Given the description of an element on the screen output the (x, y) to click on. 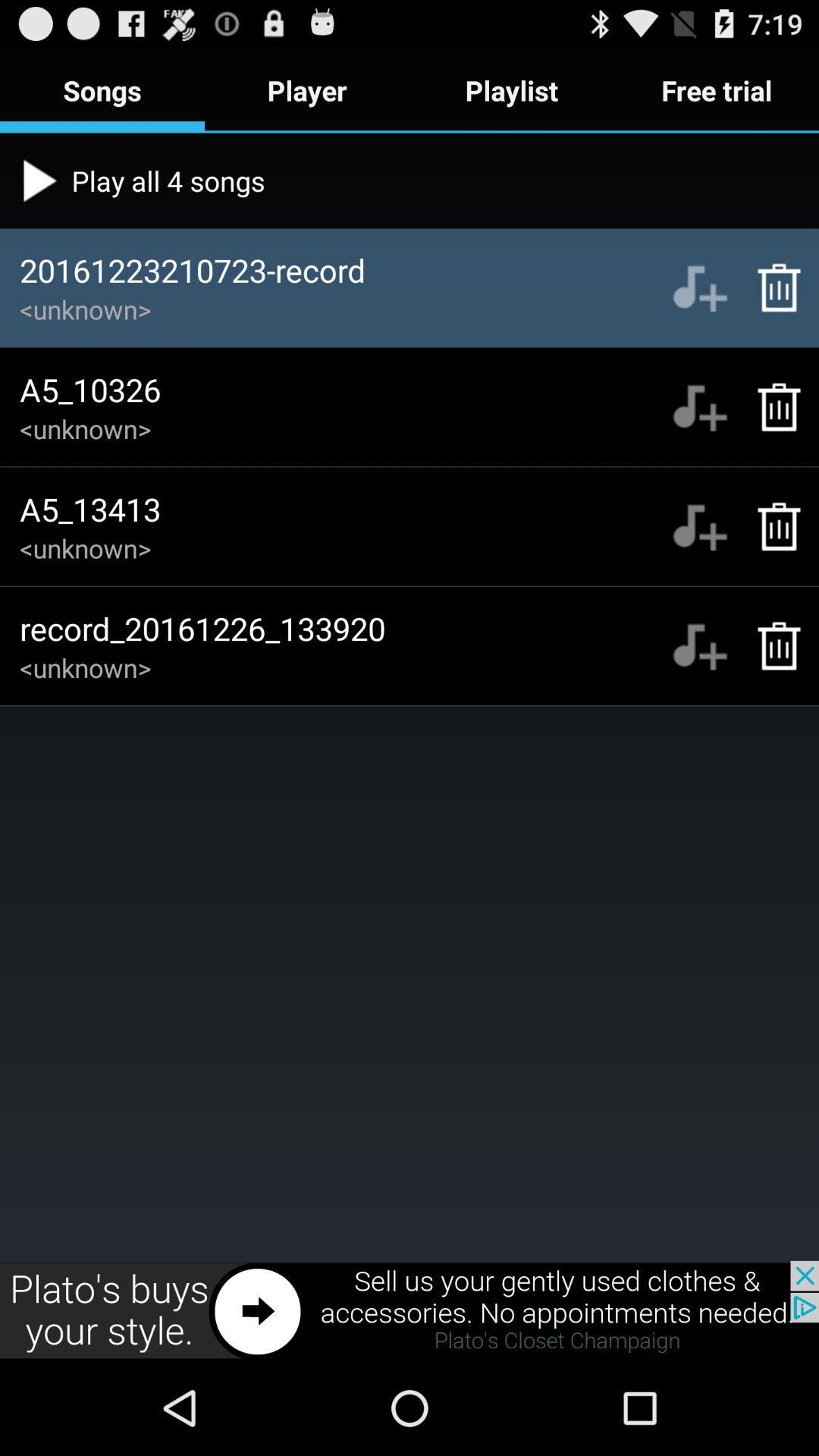
add music (699, 526)
